Given the description of an element on the screen output the (x, y) to click on. 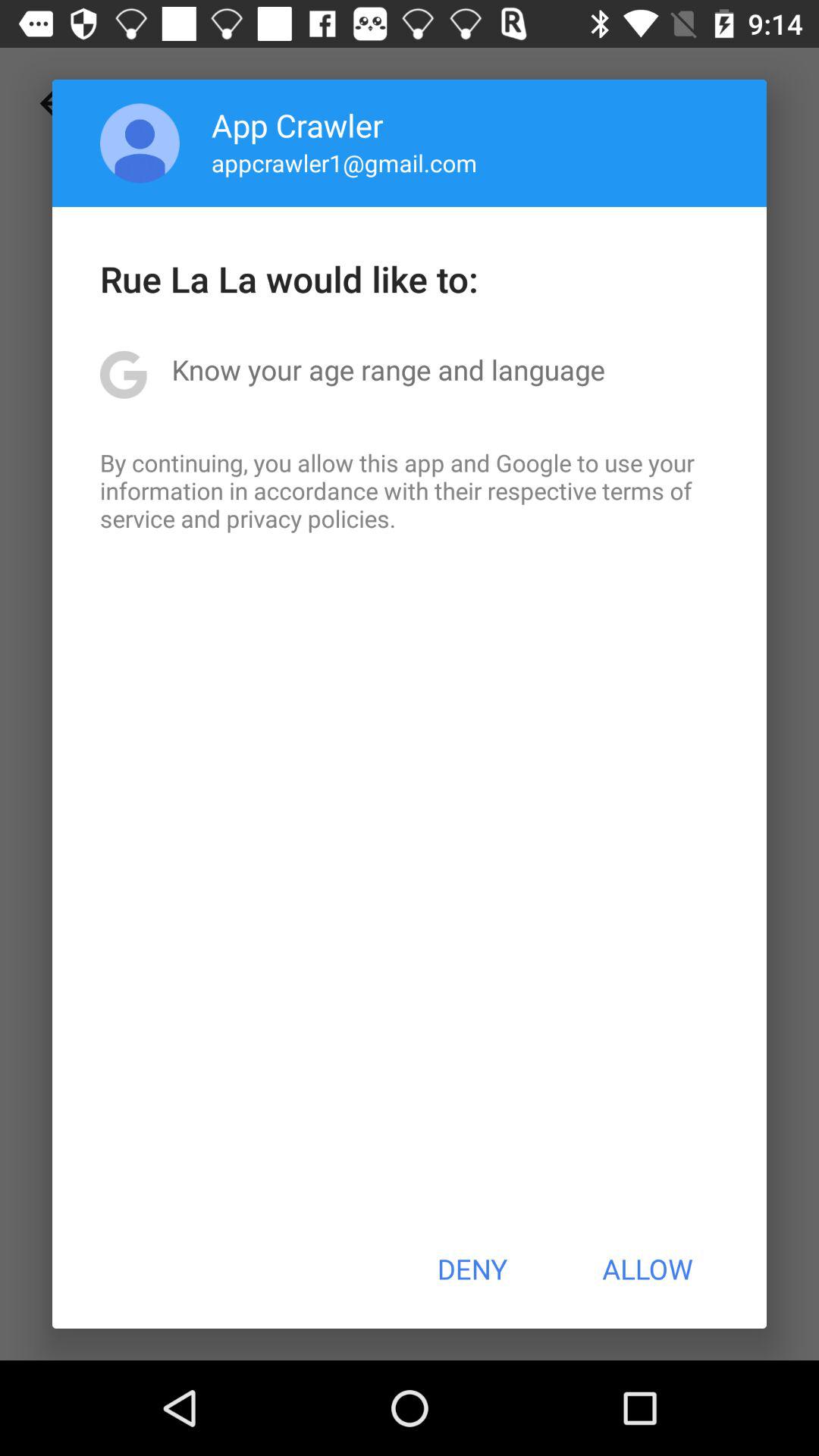
open icon below by continuing you app (471, 1268)
